Given the description of an element on the screen output the (x, y) to click on. 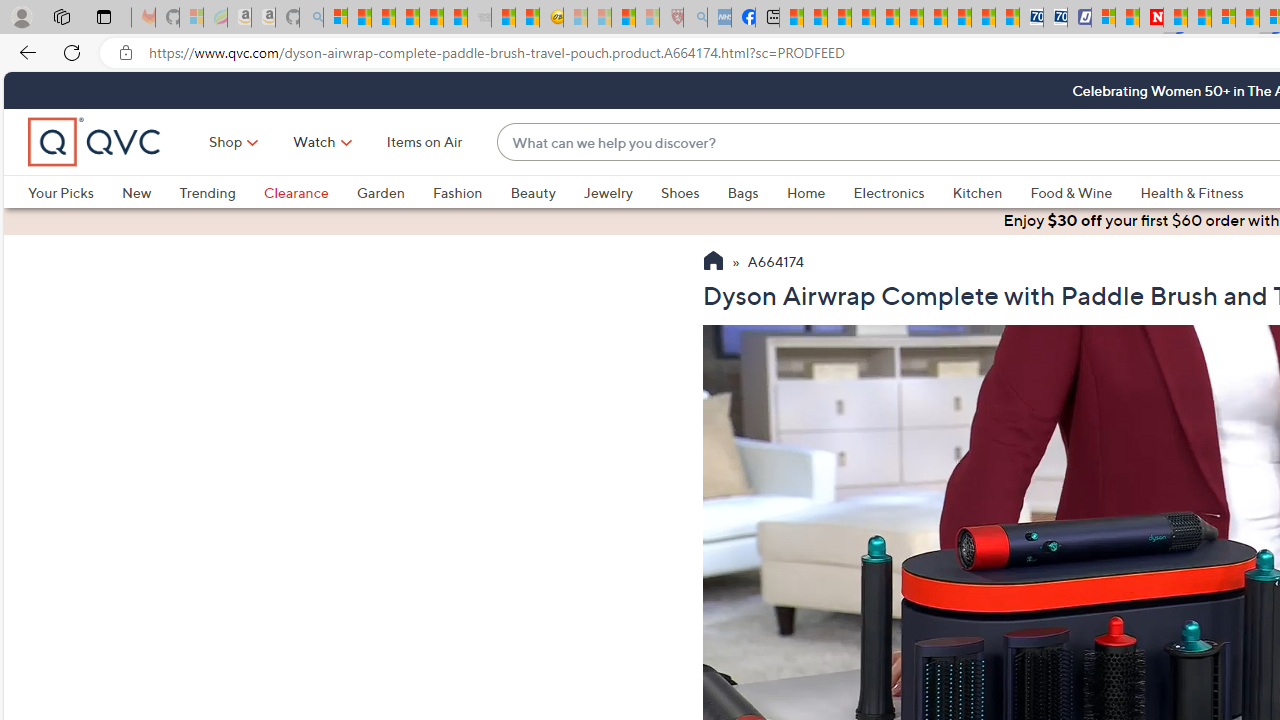
QVC home (95, 141)
Jewelry (621, 192)
Trending (221, 192)
Beauty (546, 192)
Climate Damage Becomes Too Severe To Reverse (863, 17)
Bags (757, 192)
Robert H. Shmerling, MD - Harvard Health - Sleeping (671, 17)
QVC home (95, 141)
